Given the description of an element on the screen output the (x, y) to click on. 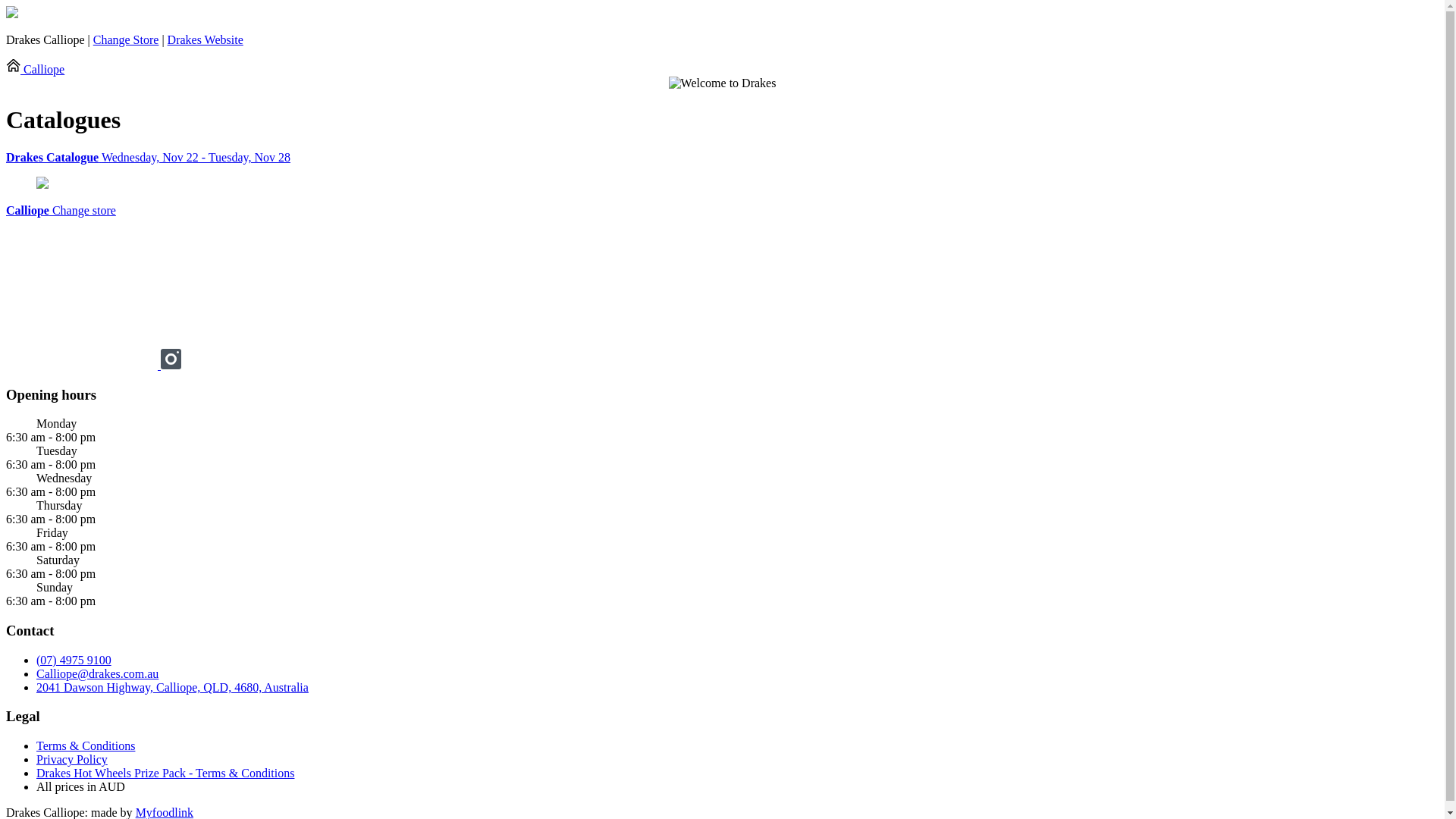
Terms & Conditions Element type: text (85, 745)
Change Store Element type: text (126, 39)
Instagram drakessupermarkets Element type: hover (170, 364)
2041 Dawson Highway, Calliope, QLD, 4680, Australia Element type: text (172, 686)
Calliope Element type: text (35, 68)
Drakes Website Element type: text (205, 39)
Drakes Hot Wheels Prize Pack - Terms & Conditions Element type: text (165, 772)
Calliope Change store Element type: text (61, 209)
(07) 4975 9100 Element type: text (73, 659)
Facebook Element type: hover (83, 364)
Privacy Policy Element type: text (71, 759)
Drakes Catalogue Wednesday, Nov 22 - Tuesday, Nov 28 Element type: text (722, 156)
Calliope@drakes.com.au Element type: text (97, 673)
